Given the description of an element on the screen output the (x, y) to click on. 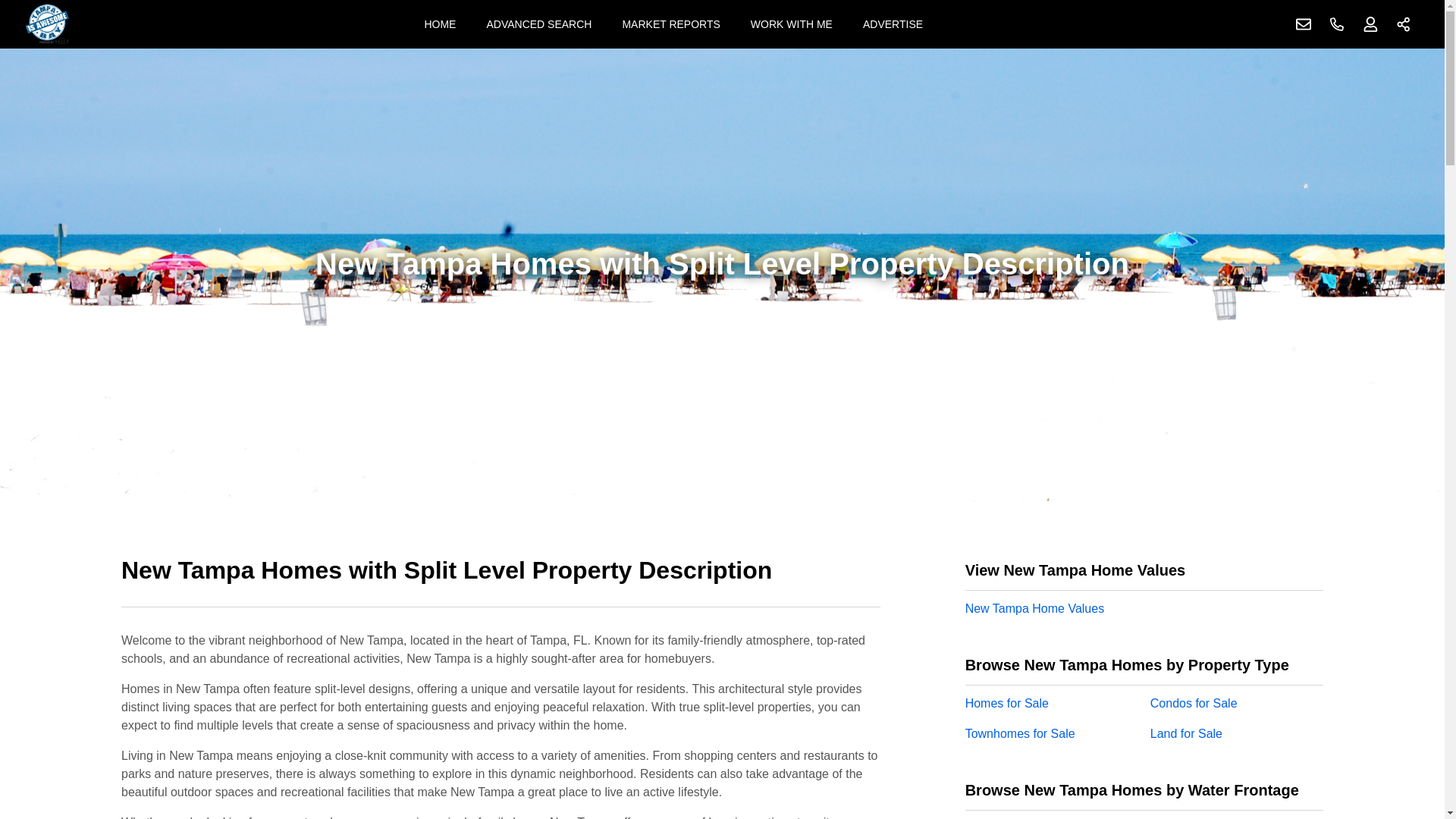
MARKET REPORTS (670, 24)
Share (1404, 23)
Phone number (1337, 23)
Tampabayisawesome.com (46, 24)
HOME (439, 24)
Contact us (1303, 23)
New Tampa Homes with Split Level Property Description (500, 579)
ADVANCED SEARCH (538, 24)
WORK WITH ME (791, 24)
ADVERTISE (892, 24)
